Given the description of an element on the screen output the (x, y) to click on. 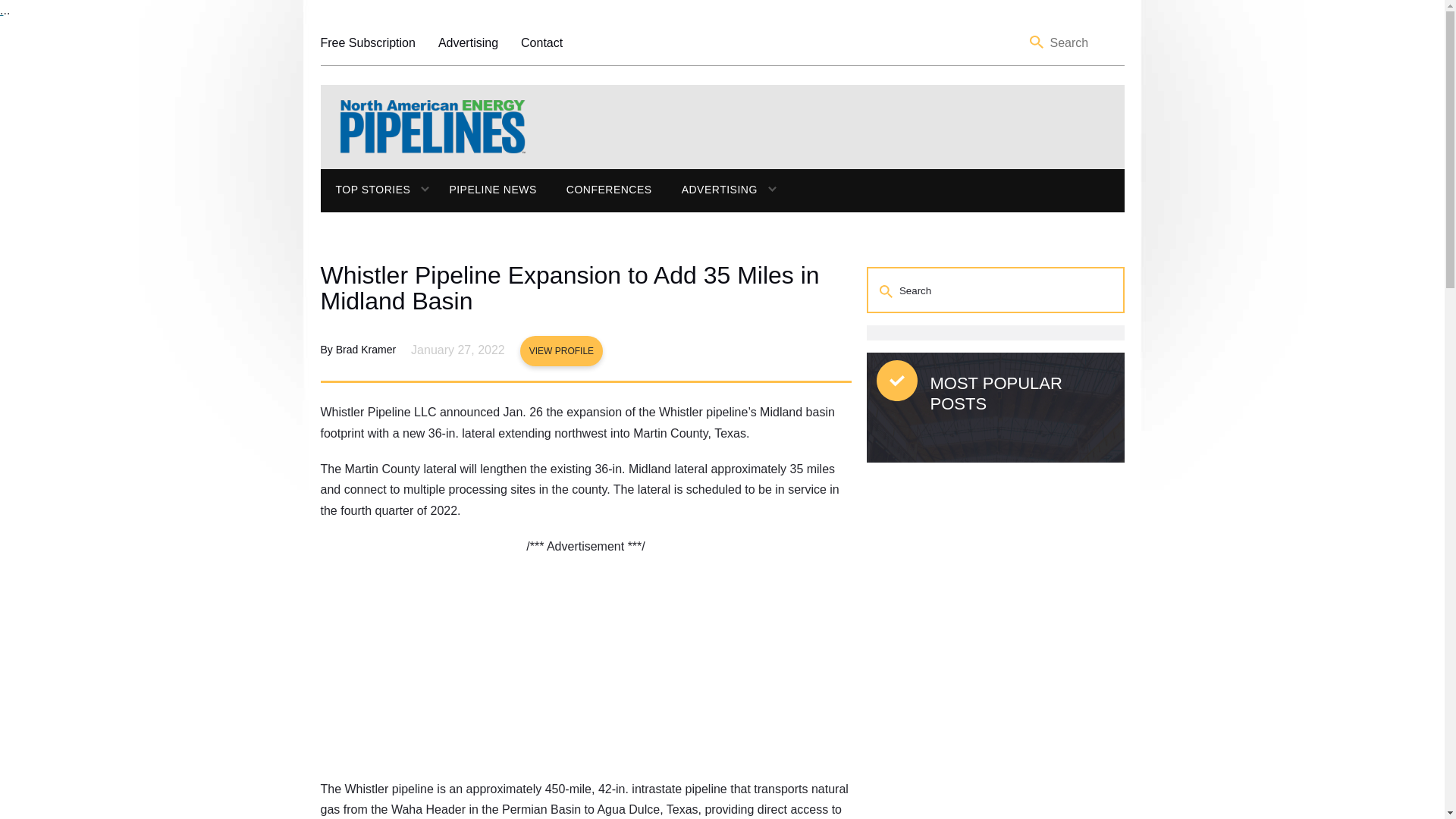
CONFERENCES (608, 189)
Free Magazine Subscription (367, 42)
PIPELINE NEWS (491, 189)
TOP STORIES (365, 189)
Search (1037, 43)
Whistler Pipeline Expansion to Add 35 Miles in Midland Basin (585, 287)
ADVERTISING (711, 189)
Search (887, 290)
Contact (541, 42)
Free Subscription (367, 42)
Advertising (467, 42)
VIEW PROFILE (560, 350)
Whistler Pipeline Expansion to Add 35 Miles in Midland Basin (585, 287)
